Given the description of an element on the screen output the (x, y) to click on. 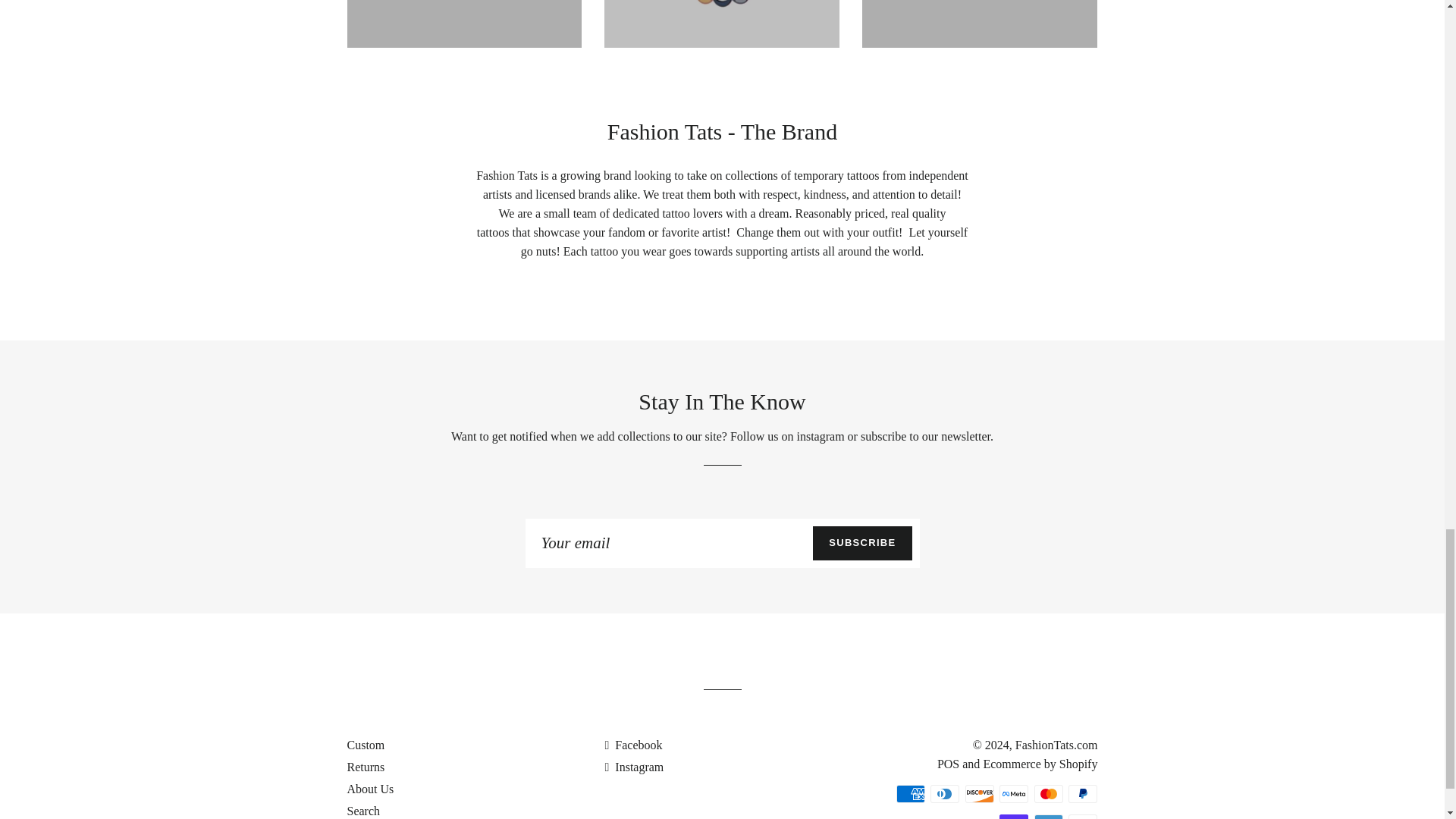
Meta Pay (1012, 793)
Visa (1082, 816)
FashionTats.com on Instagram (633, 766)
Diners Club (944, 793)
Discover (979, 793)
PayPal (1082, 793)
Mastercard (1047, 793)
Venmo (1047, 816)
FashionTats.com on Facebook (633, 744)
American Express (910, 793)
